Given the description of an element on the screen output the (x, y) to click on. 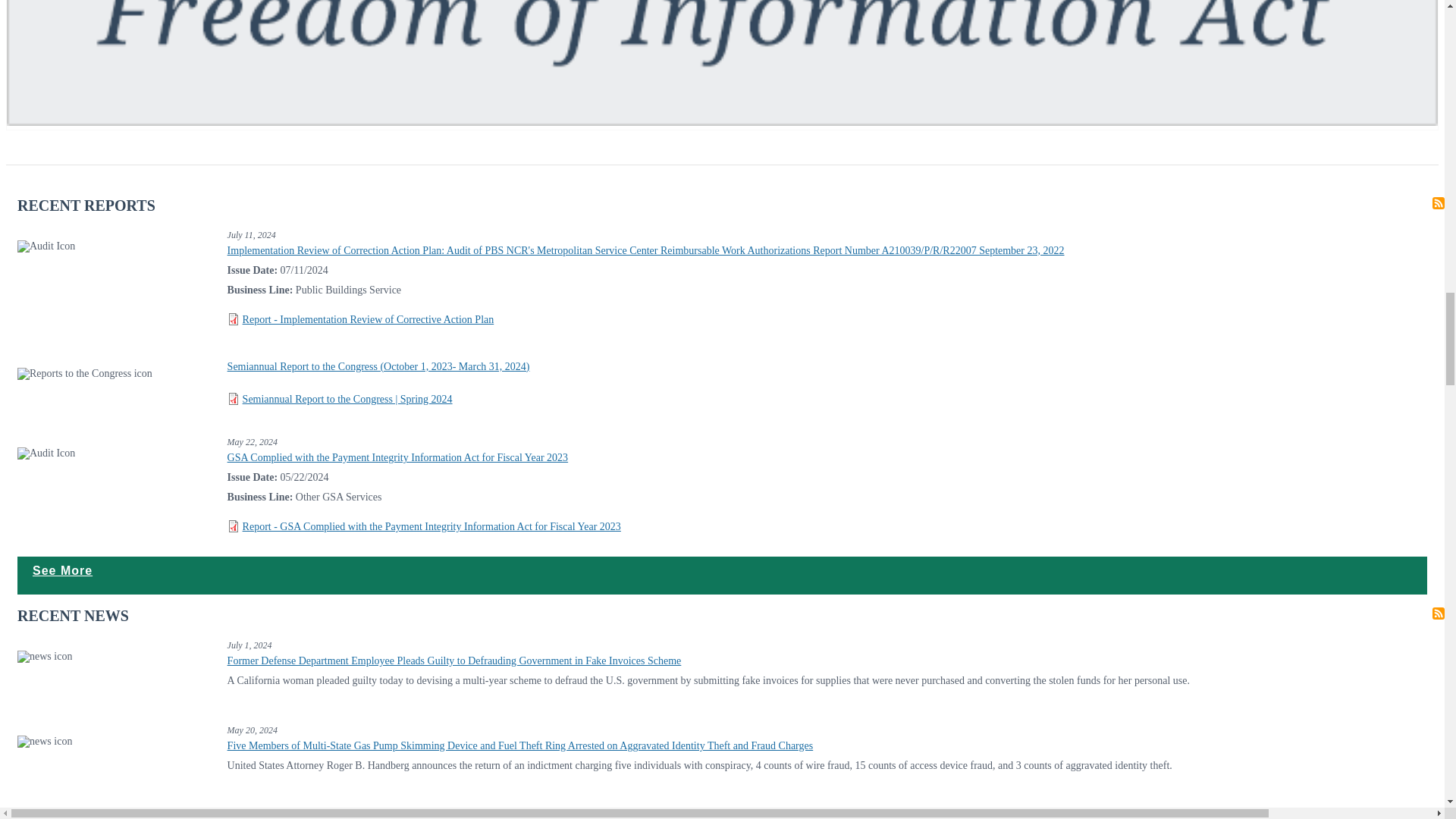
Final Report A240001- Payment Integrity Information Act.pdf (432, 526)
GSA-OIG-SAR-Spring-2024.pdf (347, 398)
